Given the description of an element on the screen output the (x, y) to click on. 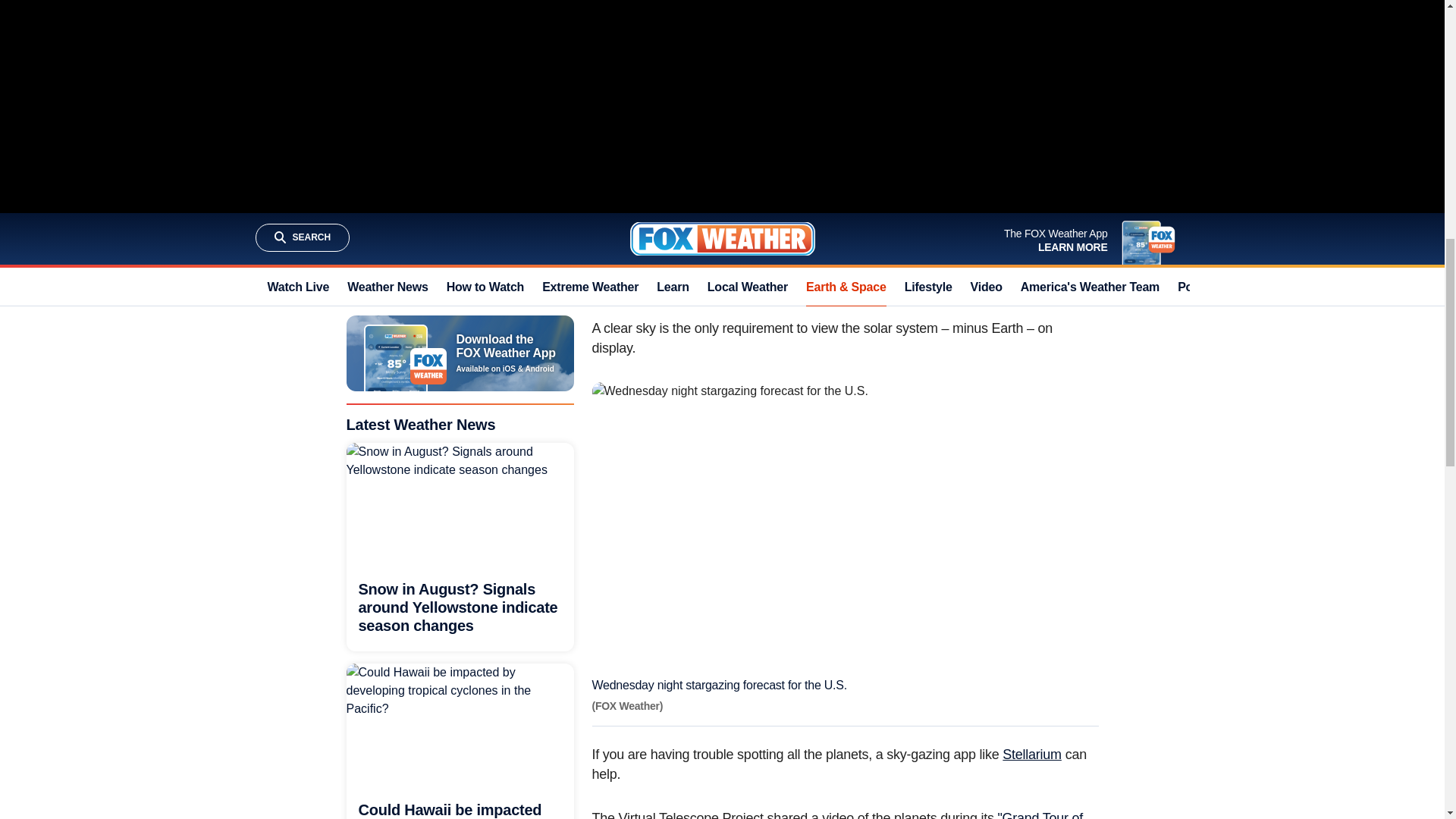
Stellarium (1032, 754)
"Grand Tour of the Solar System" (837, 814)
02:23 (547, 788)
